Given the description of an element on the screen output the (x, y) to click on. 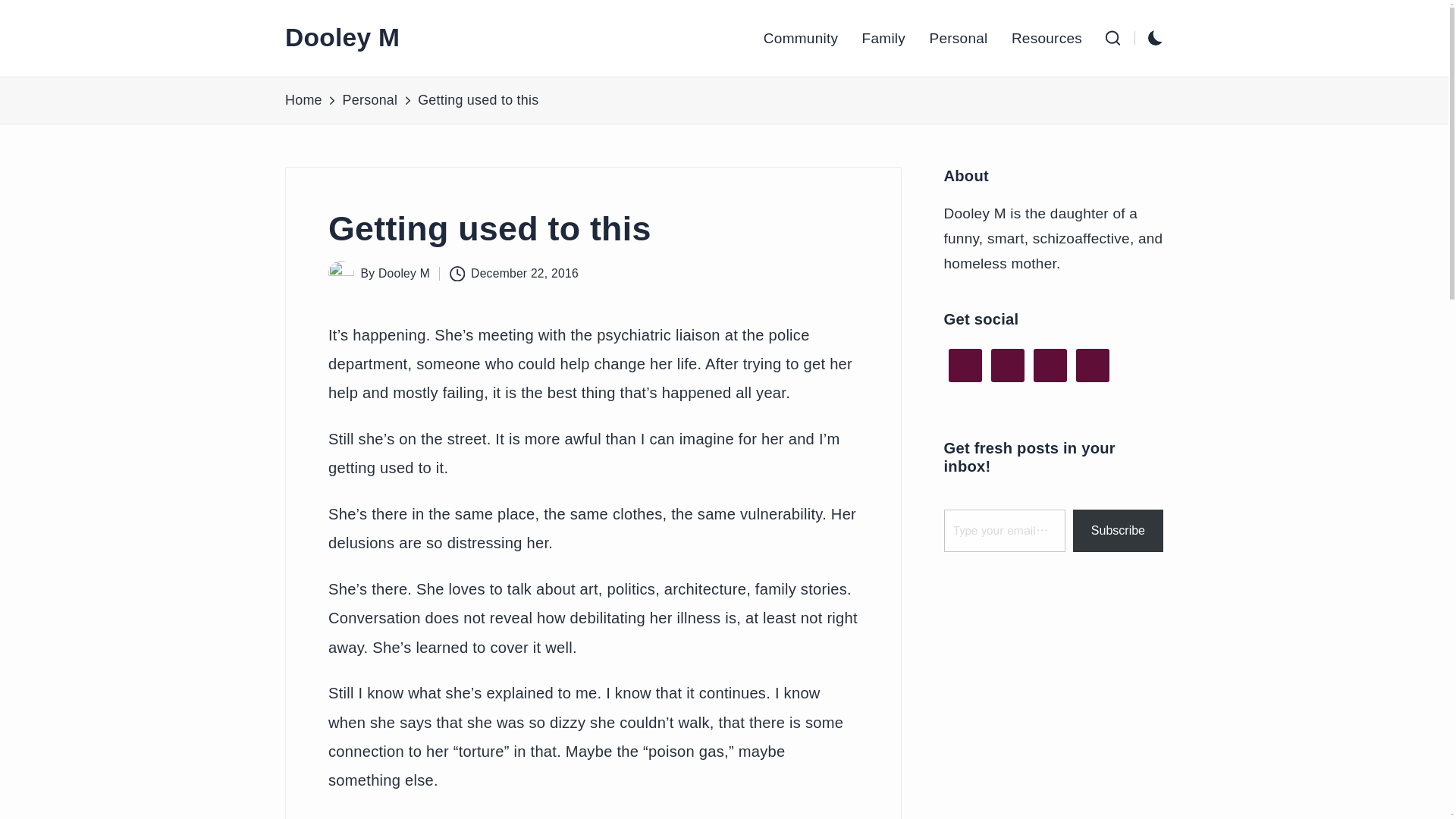
Resources (1046, 38)
View all posts by Dooley M (403, 273)
Family (883, 38)
Home (303, 100)
Personal (957, 38)
Dooley M (403, 273)
Please fill in this field. (1003, 530)
Dooley M (341, 38)
Subscribe (1118, 530)
Personal (369, 100)
